Given the description of an element on the screen output the (x, y) to click on. 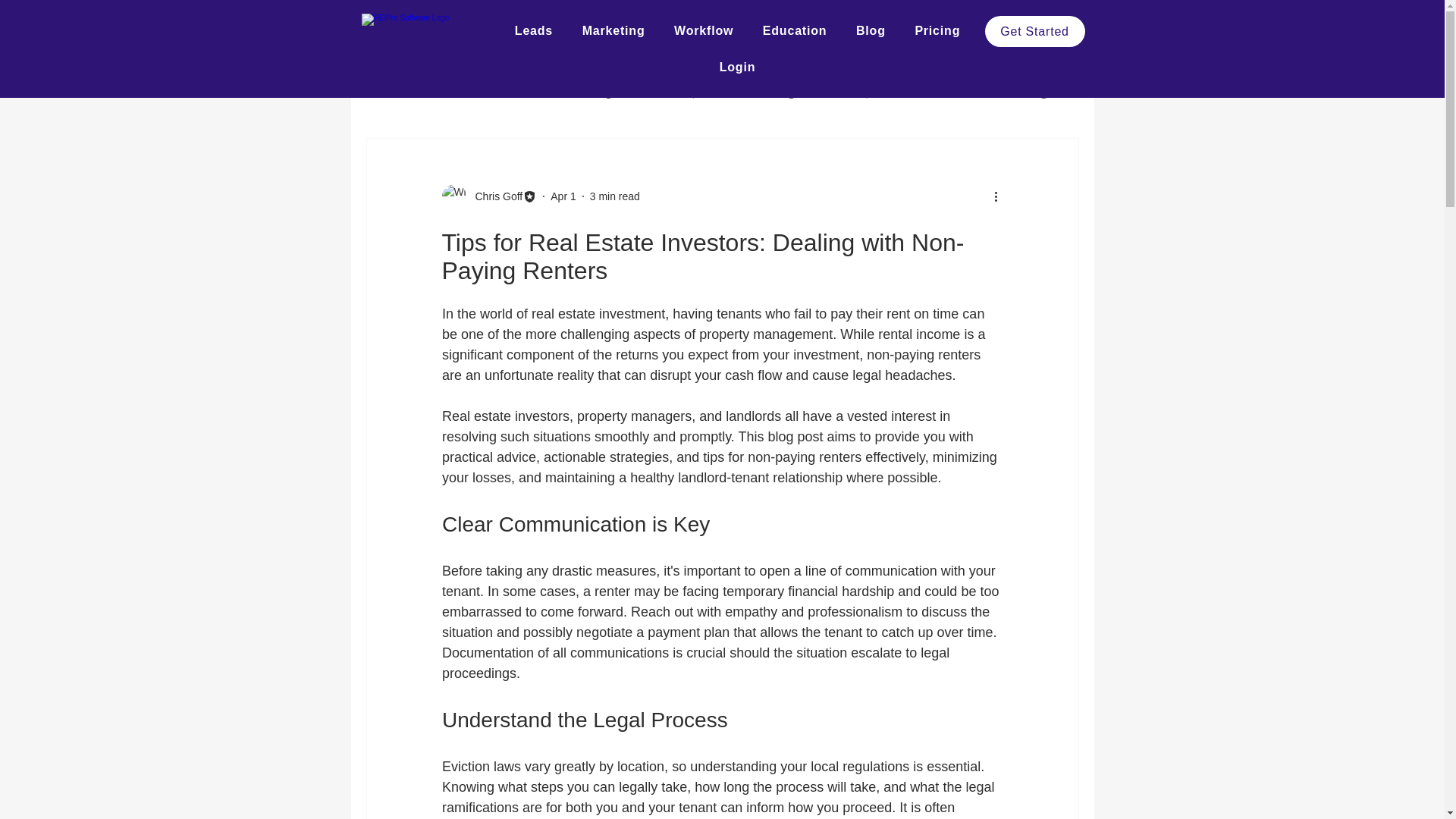
3 min read (614, 195)
Wholesaling (763, 92)
Get Started (1034, 30)
Apr 1 (562, 195)
Marketing (613, 30)
Leads (533, 30)
Chris Goff (493, 195)
Education (794, 30)
Workflow (703, 30)
All Posts (387, 92)
